Given the description of an element on the screen output the (x, y) to click on. 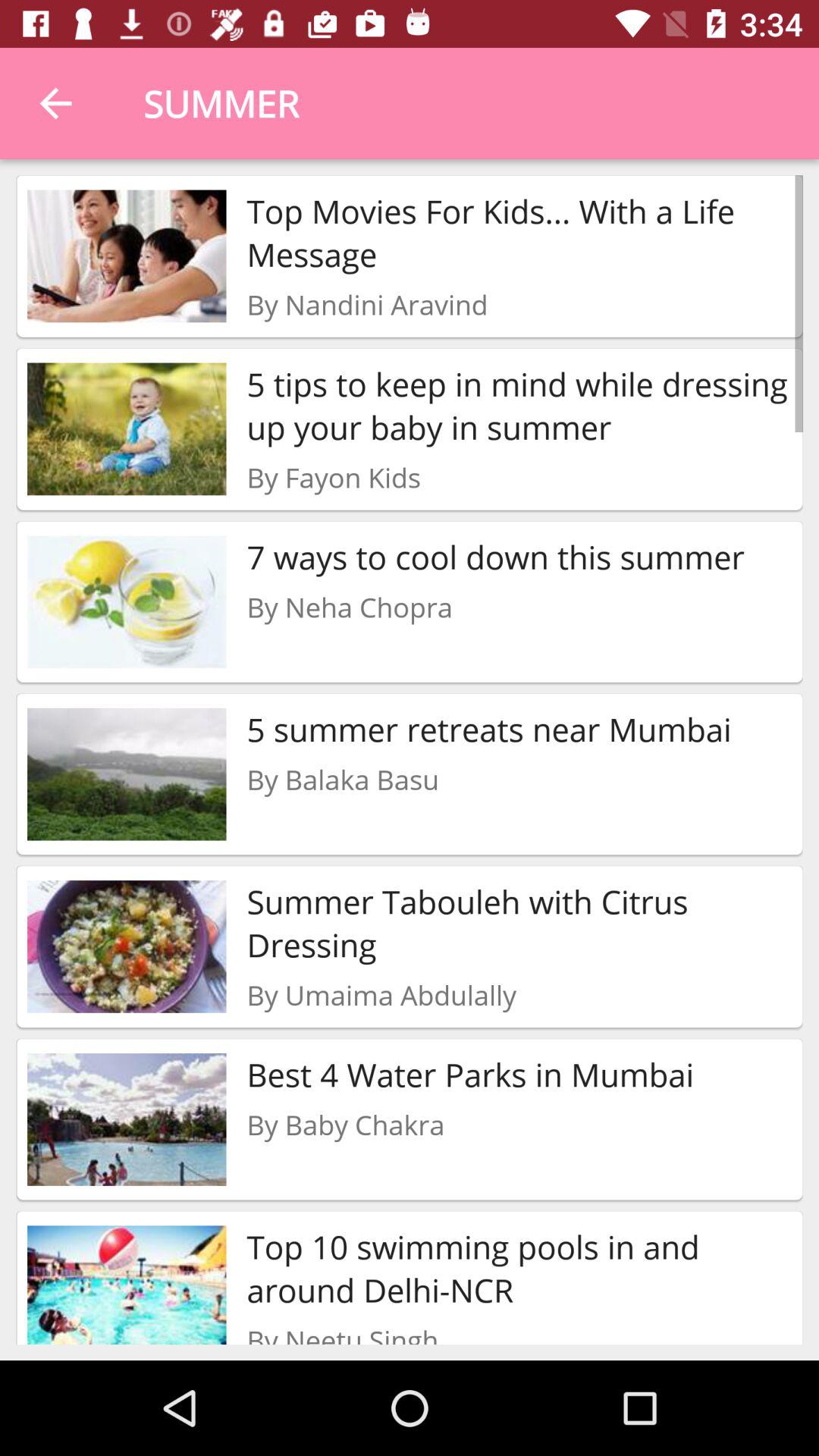
flip until the by nandini aravind icon (366, 304)
